Given the description of an element on the screen output the (x, y) to click on. 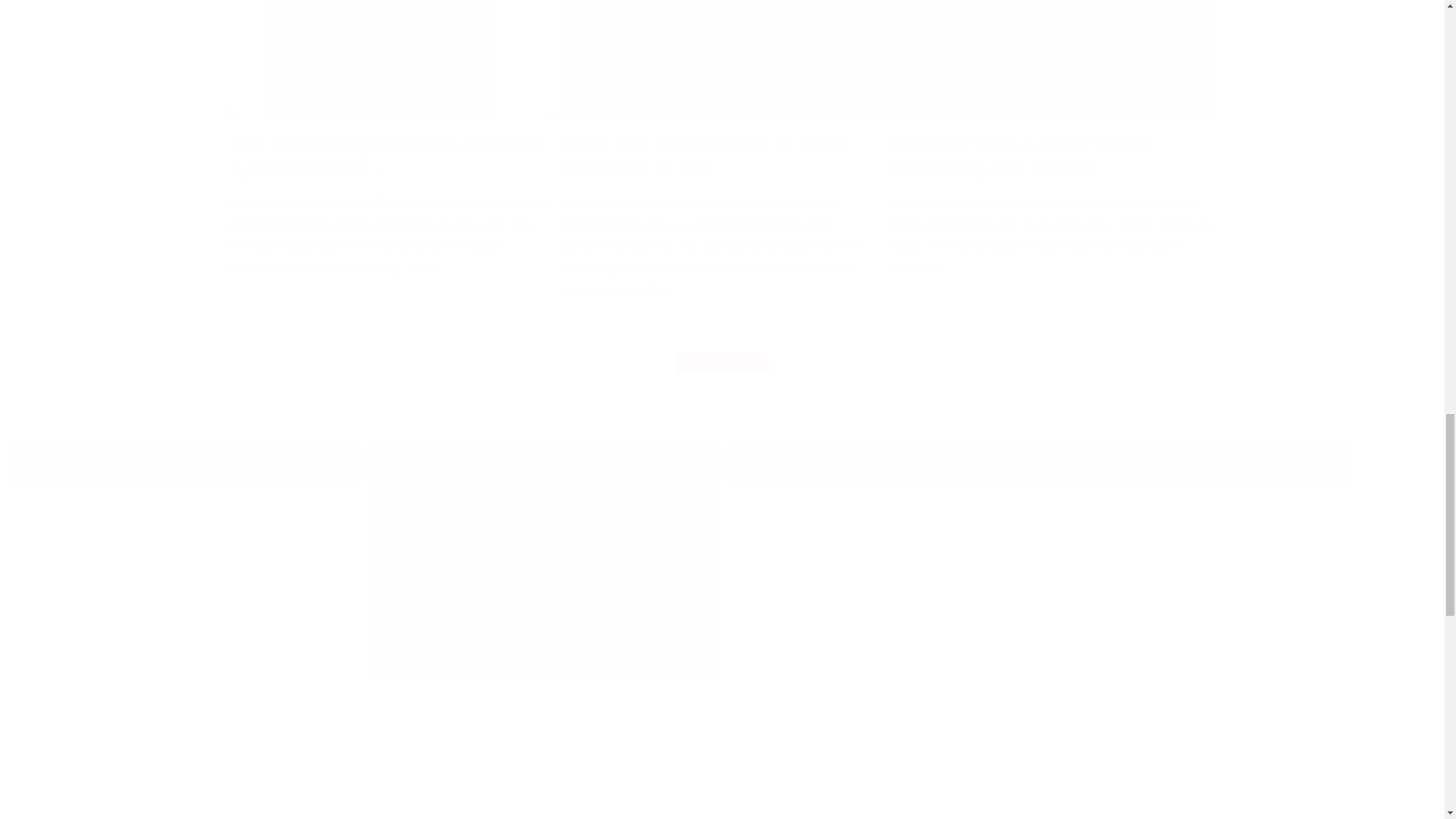
View all (721, 351)
